Given the description of an element on the screen output the (x, y) to click on. 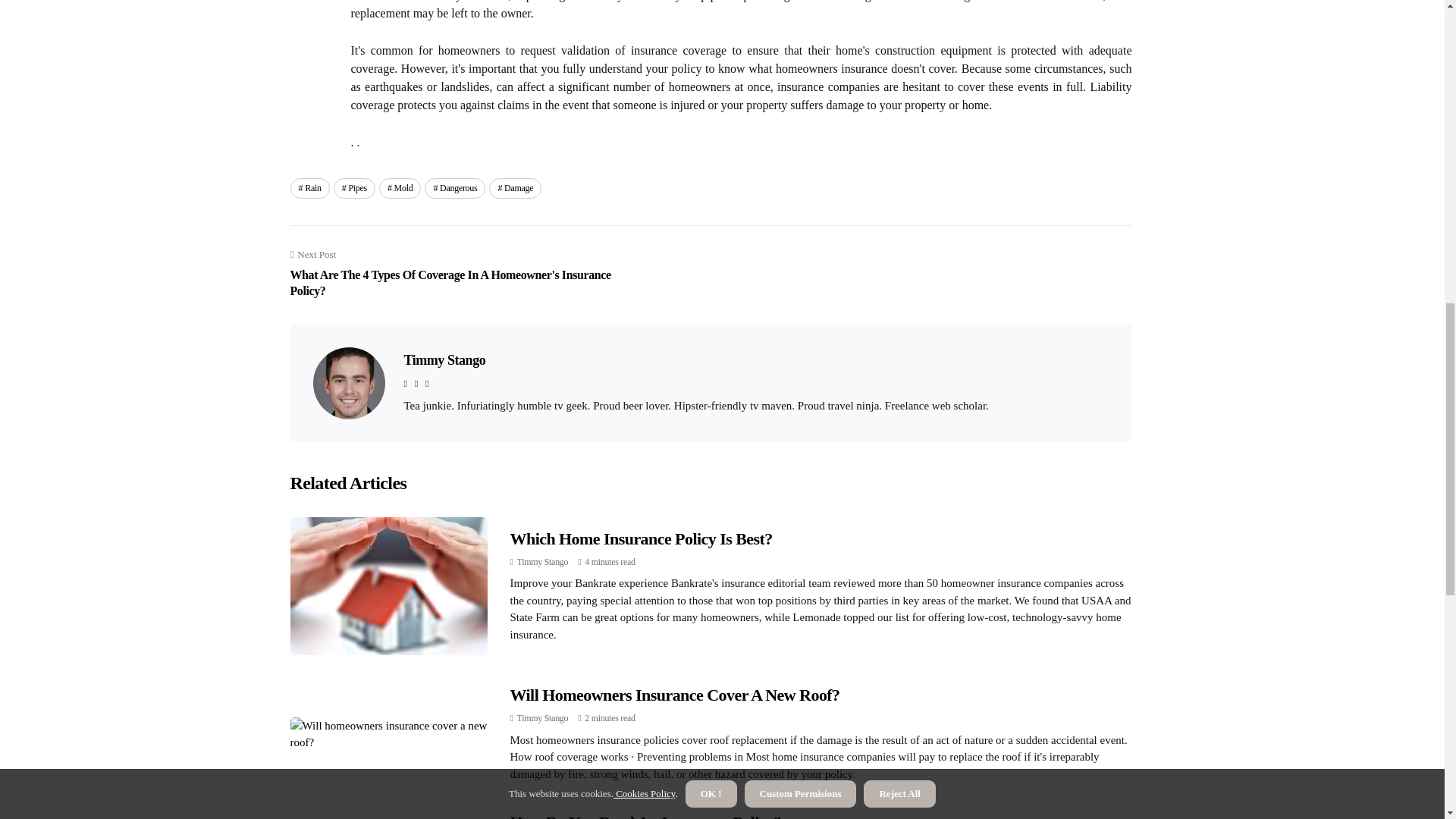
Dangerous (454, 188)
Pipes (354, 188)
Timmy Stango (542, 561)
Posts by Timmy Stango (542, 561)
Timmy Stango (542, 717)
How Do You Read An Insurance Policy? (644, 816)
Rain (309, 188)
Will Homeowners Insurance Cover A New Roof? (674, 694)
Posts by Timmy Stango (542, 717)
Which Home Insurance Policy Is Best? (640, 538)
